Given the description of an element on the screen output the (x, y) to click on. 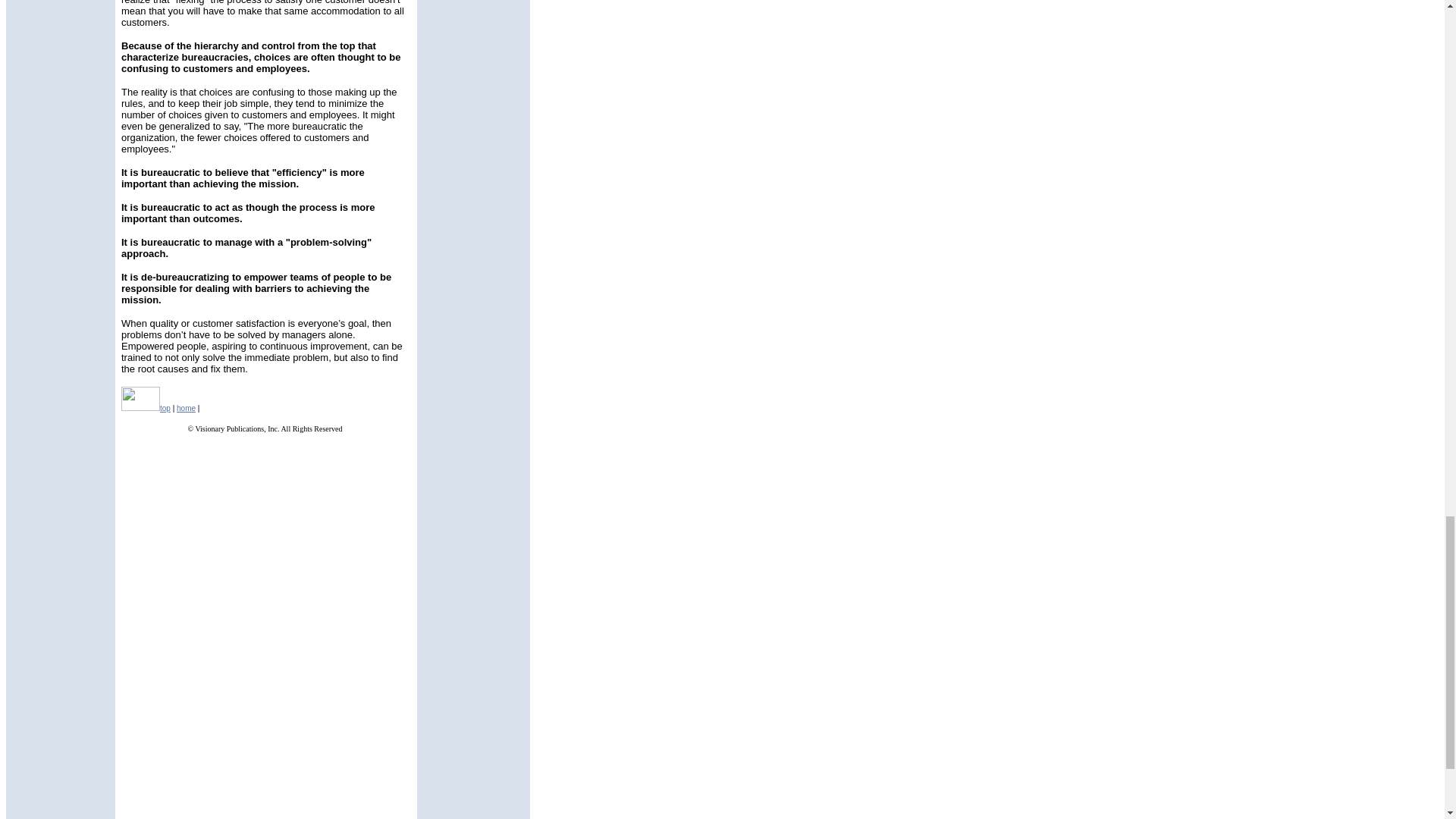
top (165, 408)
home (185, 408)
